Given the description of an element on the screen output the (x, y) to click on. 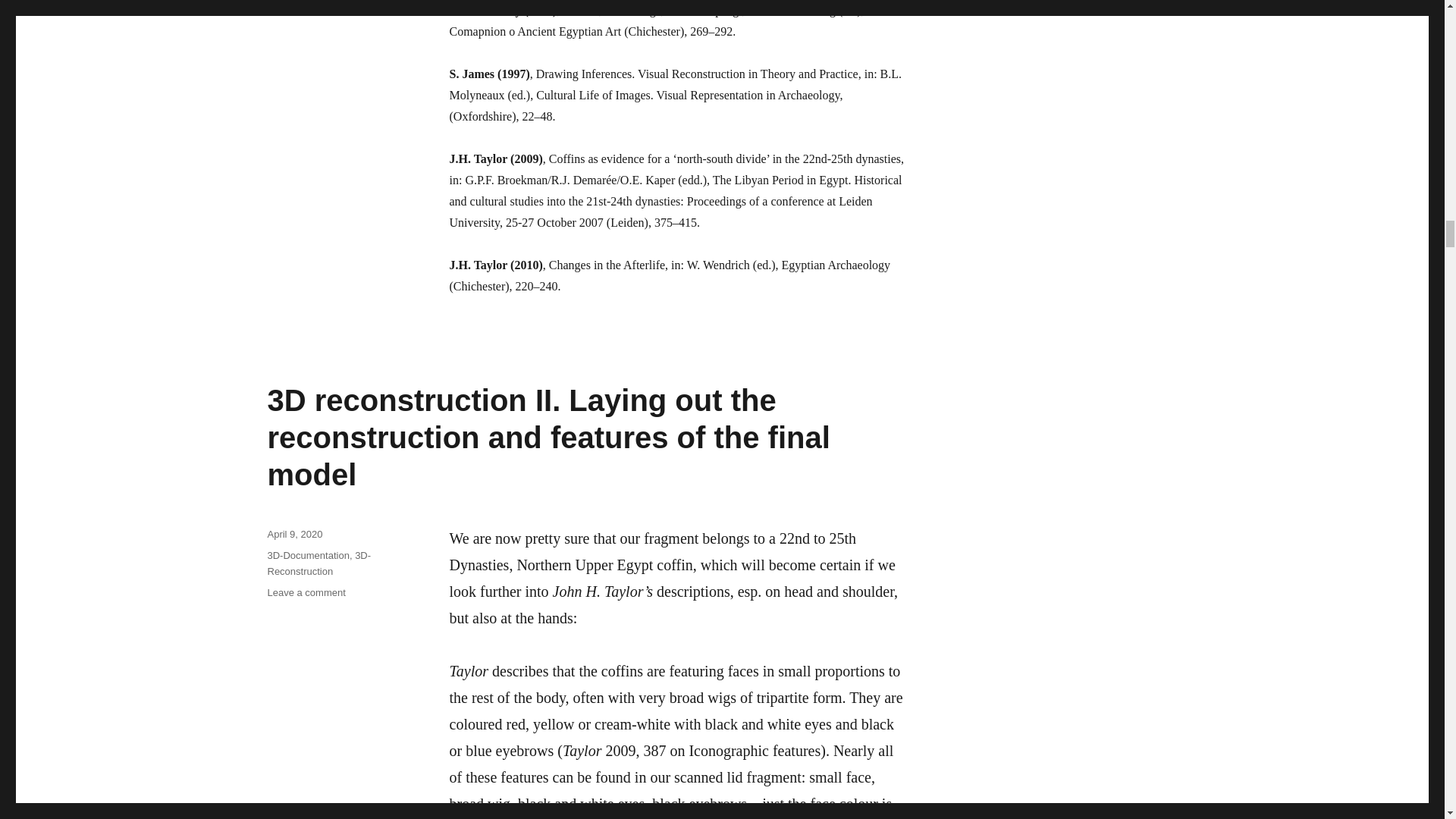
April 9, 2020 (293, 533)
3D-Reconstruction (318, 563)
3D-Documentation (307, 555)
